Given the description of an element on the screen output the (x, y) to click on. 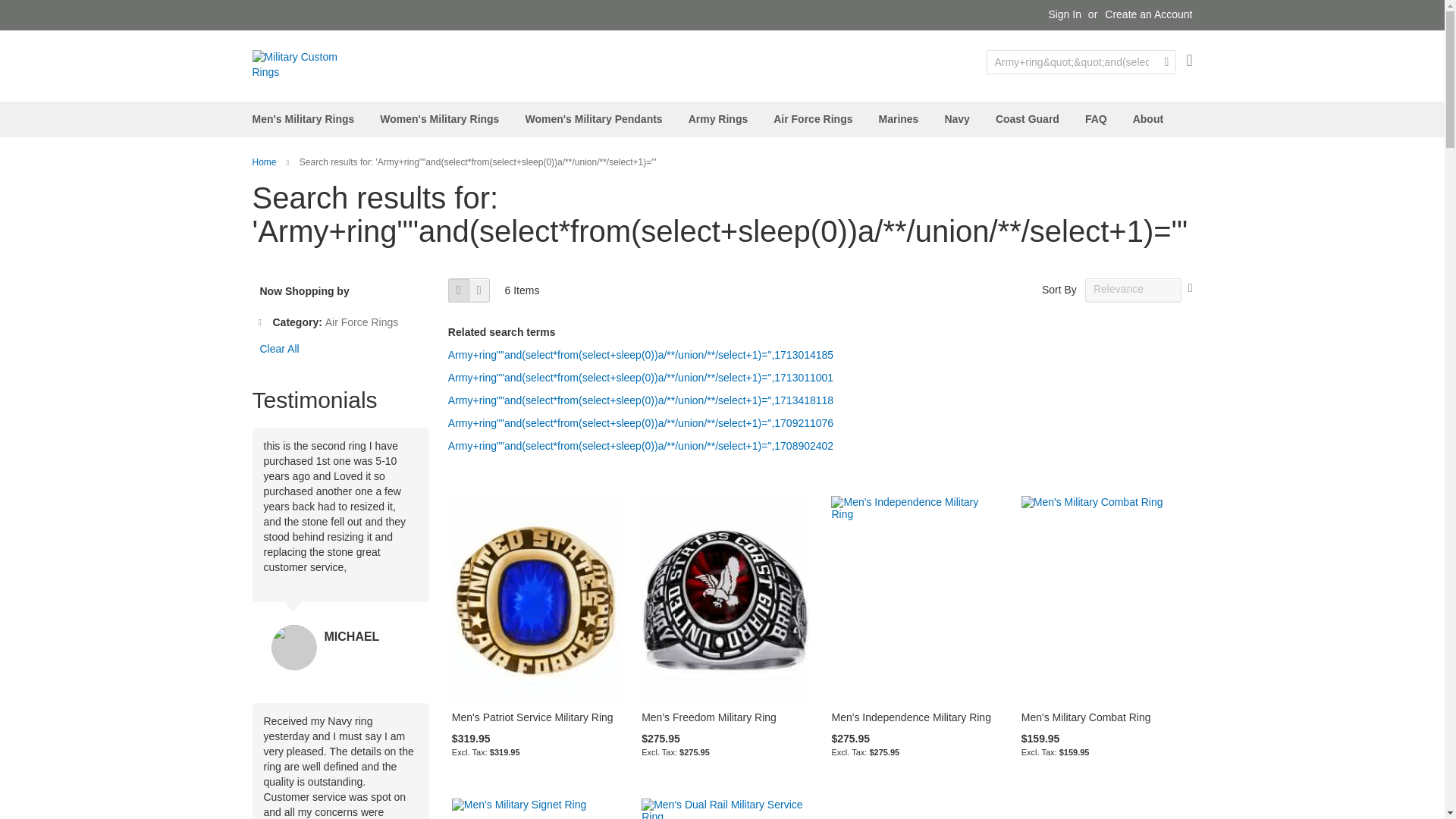
Air Force Rings (812, 119)
Women's Military Pendants (593, 119)
Sign In (1064, 14)
Women's Military Rings (439, 119)
Go to Home Page (264, 162)
Home (264, 162)
Navy (956, 119)
Army Rings (718, 119)
Create an Account (1148, 14)
Marines (898, 119)
Men's Military Rings (302, 119)
Coast Guard (1027, 119)
Men's Patriot Service Military Ring (531, 717)
Customize (290, 779)
About (1148, 119)
